Given the description of an element on the screen output the (x, y) to click on. 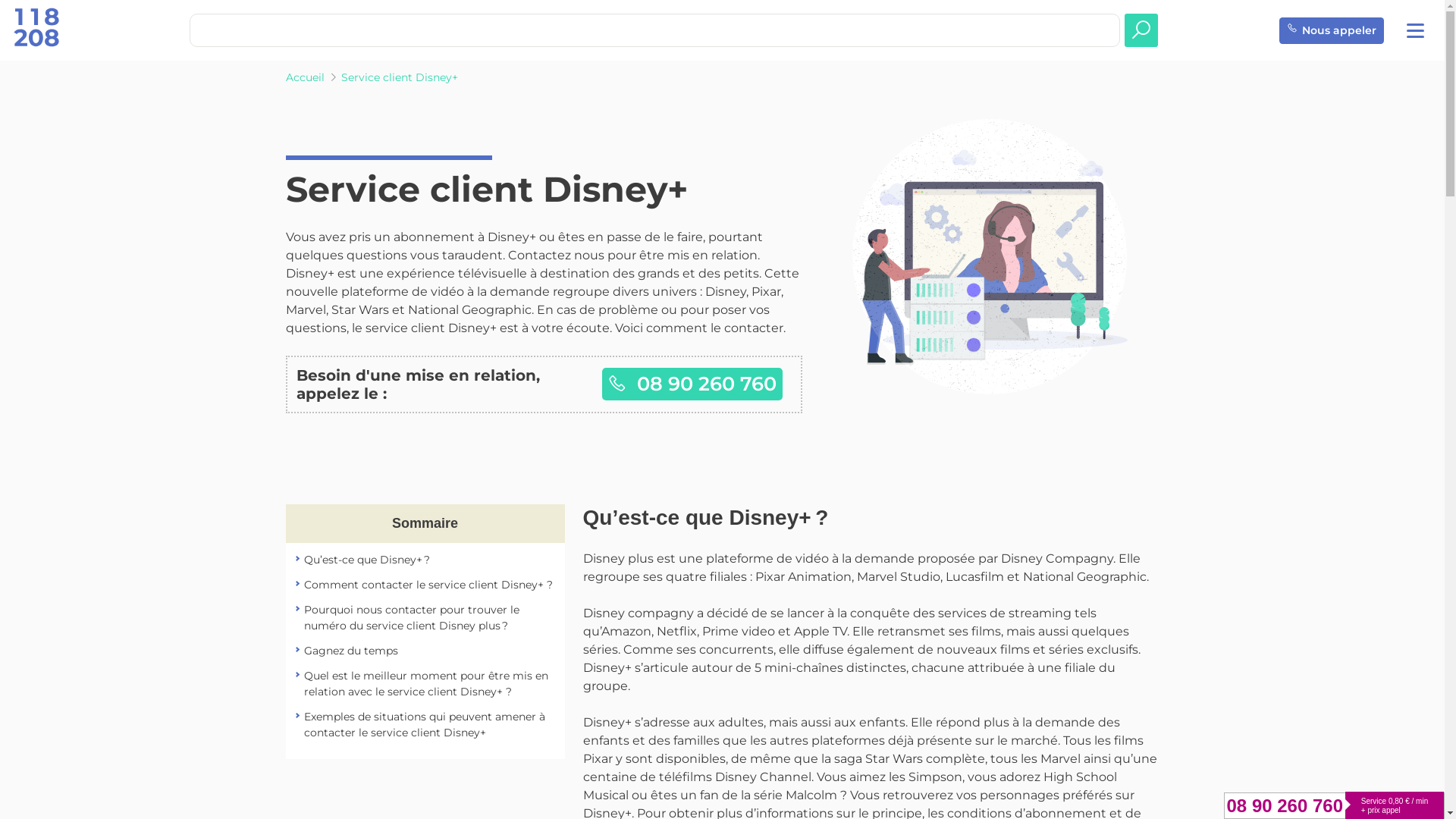
08 90 260 760 Element type: text (1284, 805)
Accueil Element type: text (304, 77)
Nous appeler Element type: text (1331, 29)
Gagnez du temps Element type: text (350, 650)
08 90 260 760 Element type: text (692, 383)
Comment contacter le service client Disney+ ? Element type: text (427, 584)
Service client Disney+ Element type: text (399, 77)
